Given the description of an element on the screen output the (x, y) to click on. 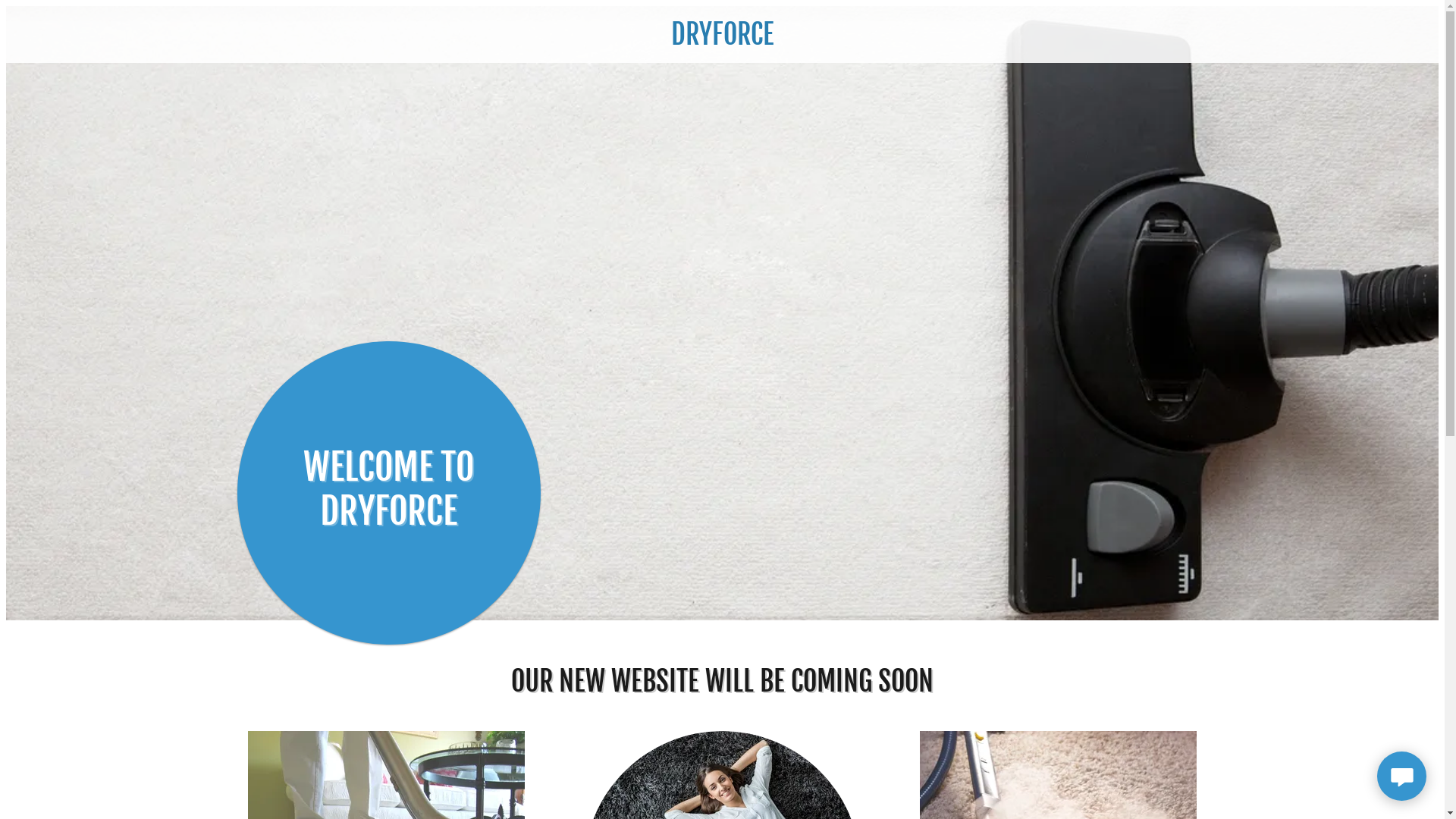
DRYFORCE Element type: text (722, 39)
